Given the description of an element on the screen output the (x, y) to click on. 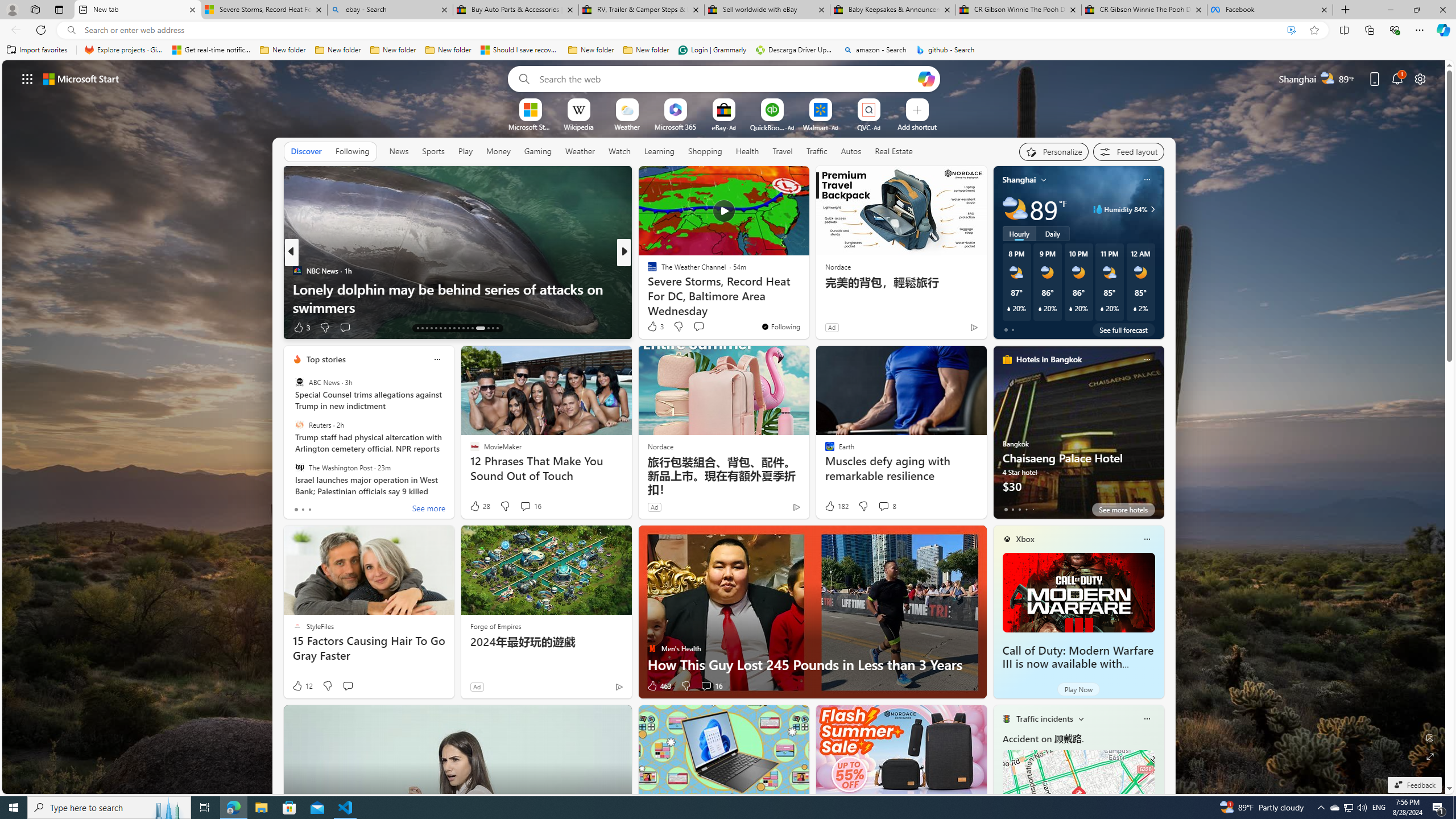
tab-0 (1005, 509)
AutomationID: tab-13 (417, 328)
12 Like (301, 685)
Dailymotion (647, 288)
View comments 1 Comment (705, 327)
The History of the Windows Start Menu (807, 307)
